Given the description of an element on the screen output the (x, y) to click on. 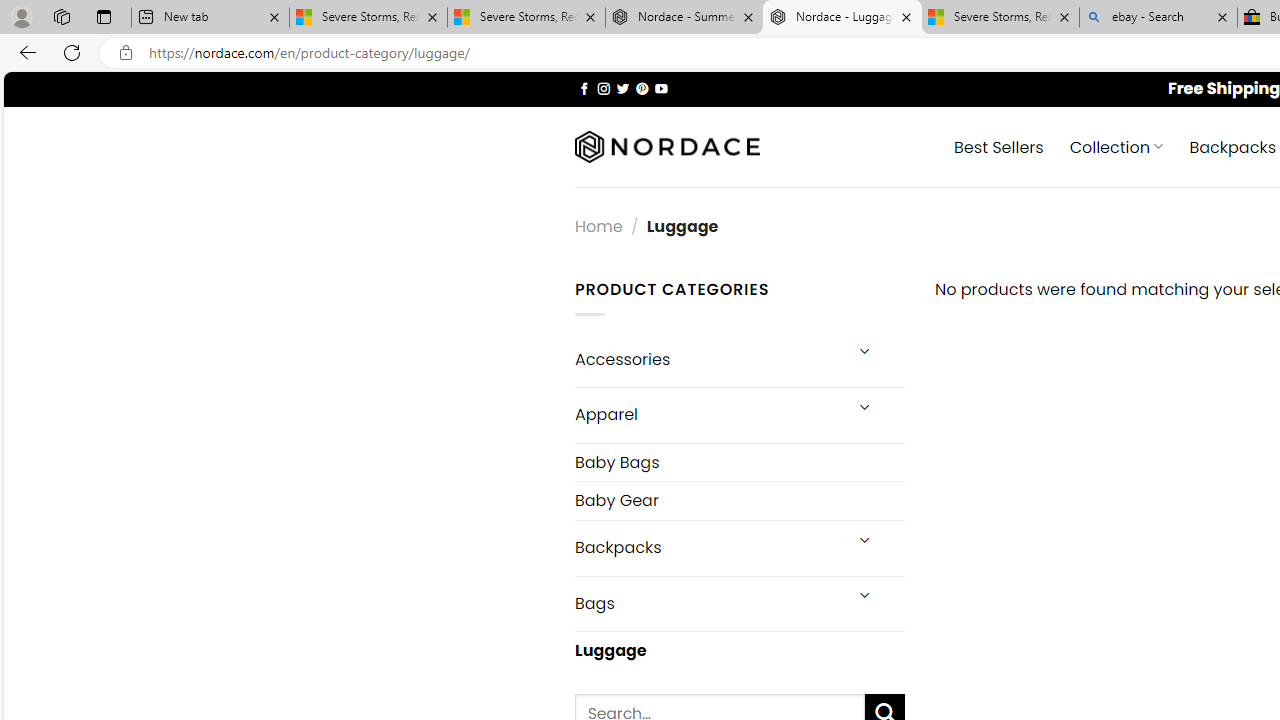
Backpacks (706, 548)
Follow on YouTube (661, 88)
Accessories (706, 358)
Apparel (706, 415)
Luggage (739, 650)
Nordace (667, 147)
Follow on Instagram (603, 88)
Tab actions menu (104, 16)
Refresh (72, 52)
Follow on Pinterest (642, 88)
